Given the description of an element on the screen output the (x, y) to click on. 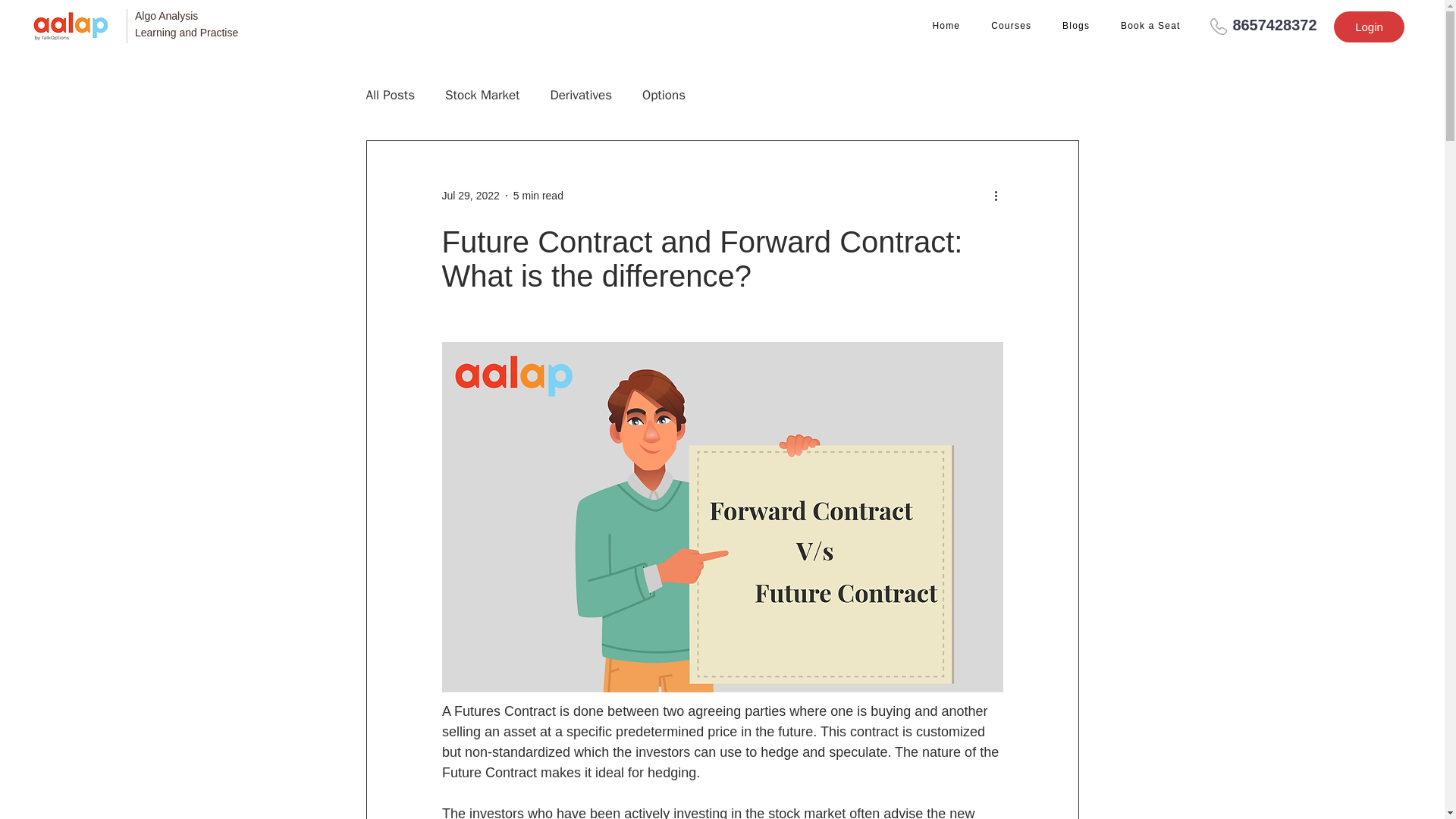
Jul 29, 2022 (470, 195)
Derivatives (580, 95)
All Posts (389, 95)
Options (663, 95)
Blogs (1075, 26)
5 min read (538, 195)
Stock Market (482, 95)
Book a Seat (1150, 26)
Home (946, 26)
Login (1369, 26)
